Given the description of an element on the screen output the (x, y) to click on. 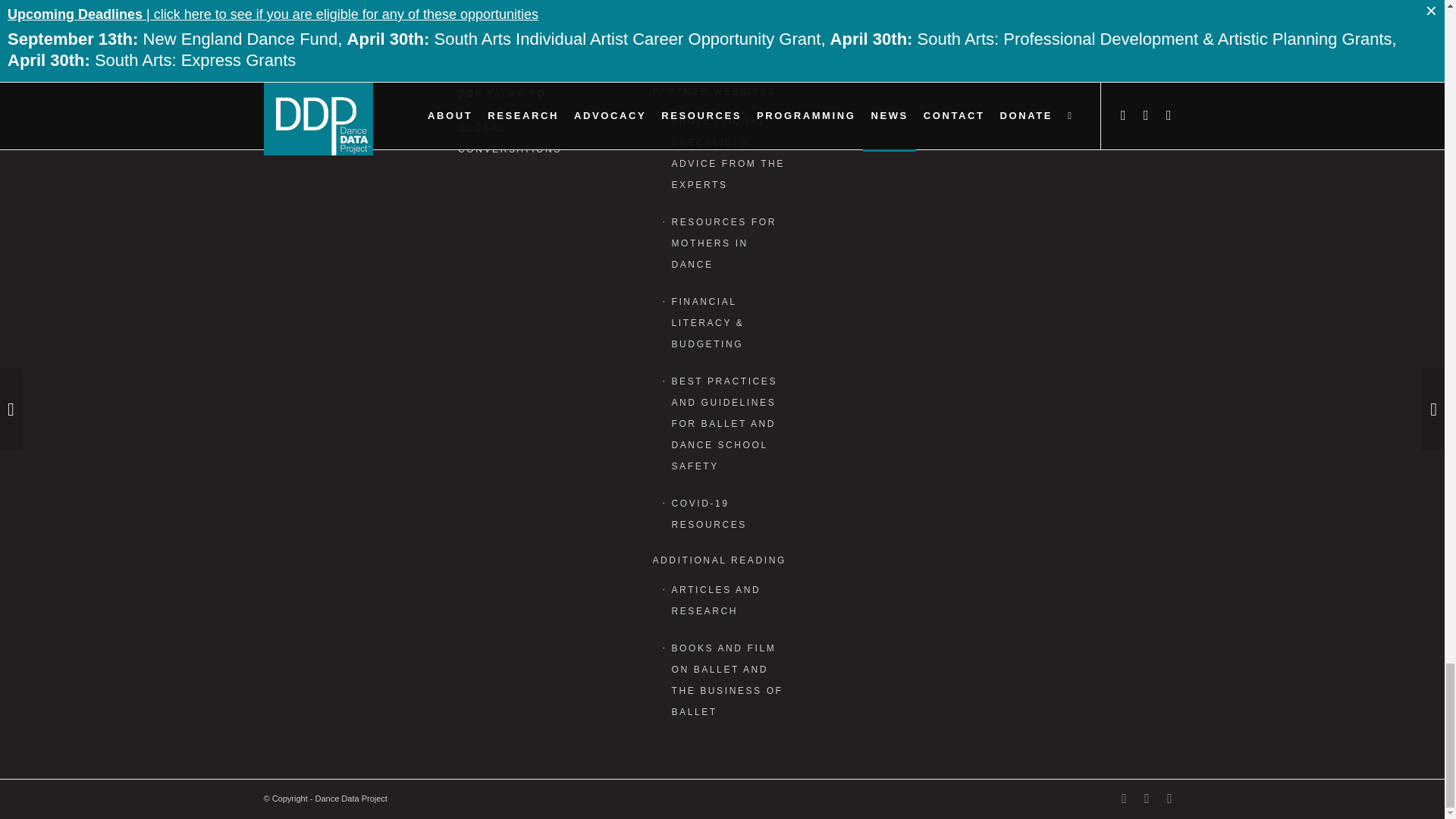
Instagram (1169, 798)
Facebook (1146, 798)
X (1124, 798)
